Given the description of an element on the screen output the (x, y) to click on. 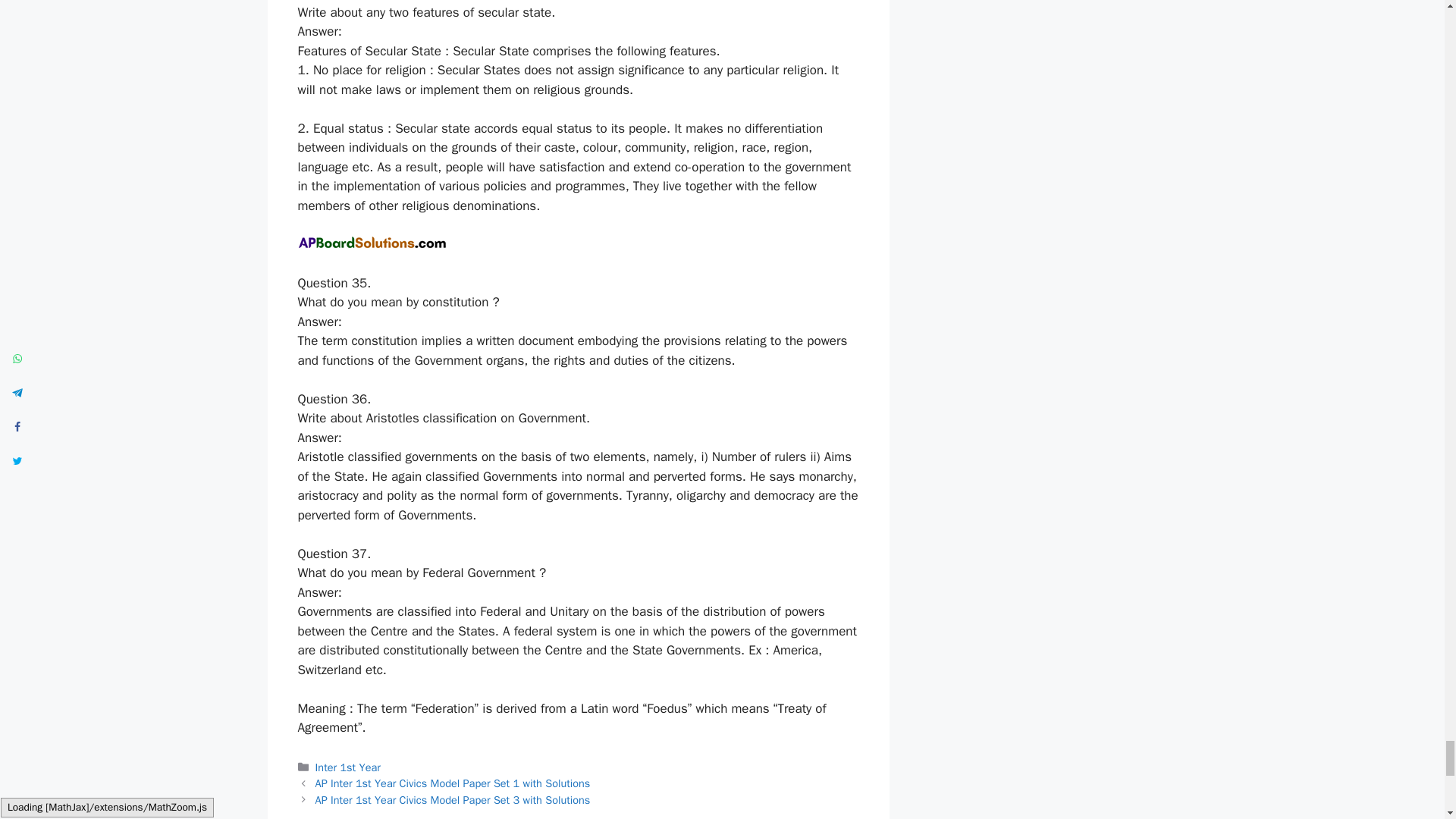
Inter 1st Year (347, 766)
AP Inter 1st Year Civics Model Paper Set 3 with Solutions (453, 799)
AP Inter 1st Year Civics Model Paper Set 1 with Solutions (453, 783)
Next (453, 799)
Previous (453, 783)
